Given the description of an element on the screen output the (x, y) to click on. 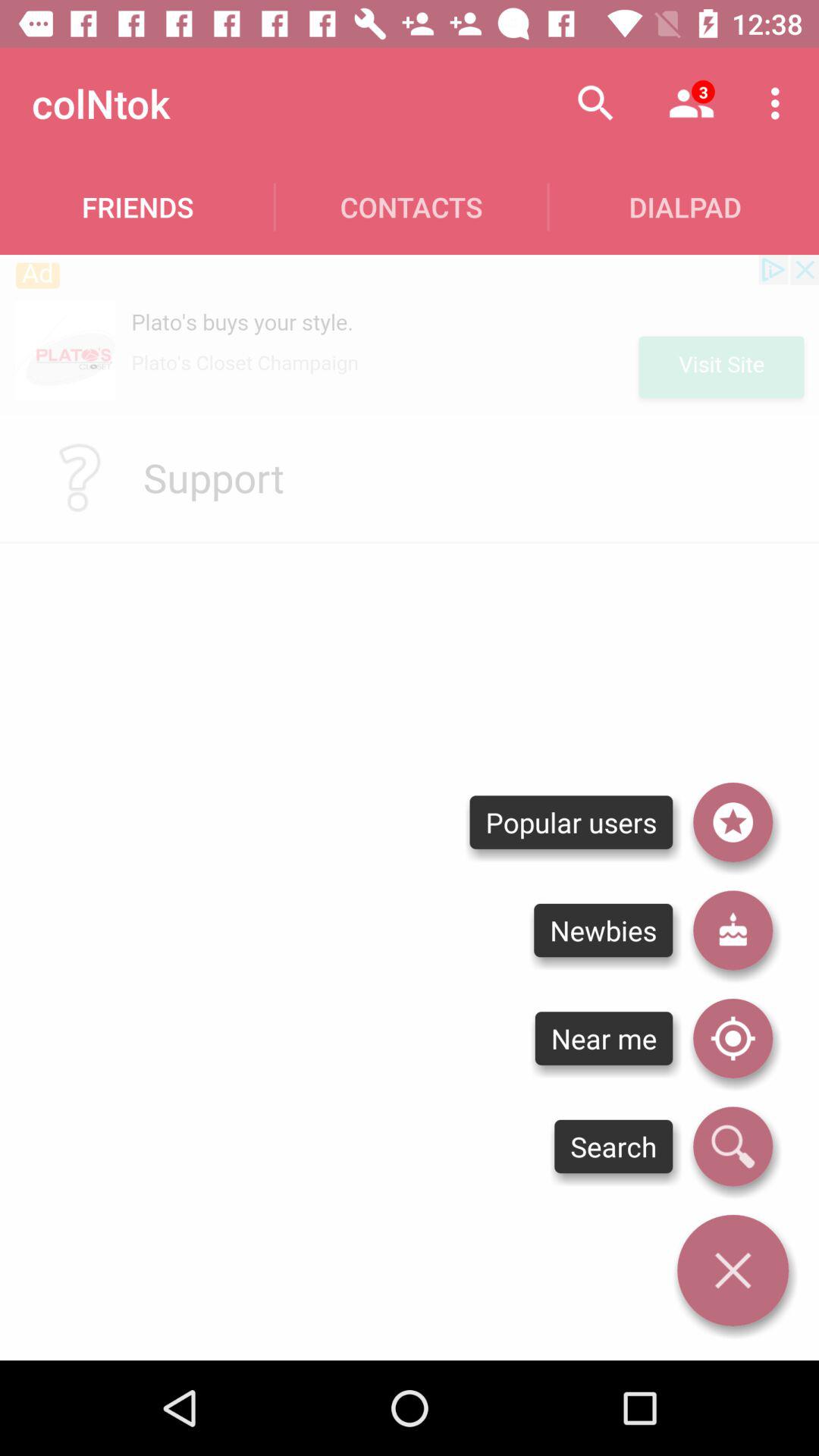
go back (733, 1270)
